Given the description of an element on the screen output the (x, y) to click on. 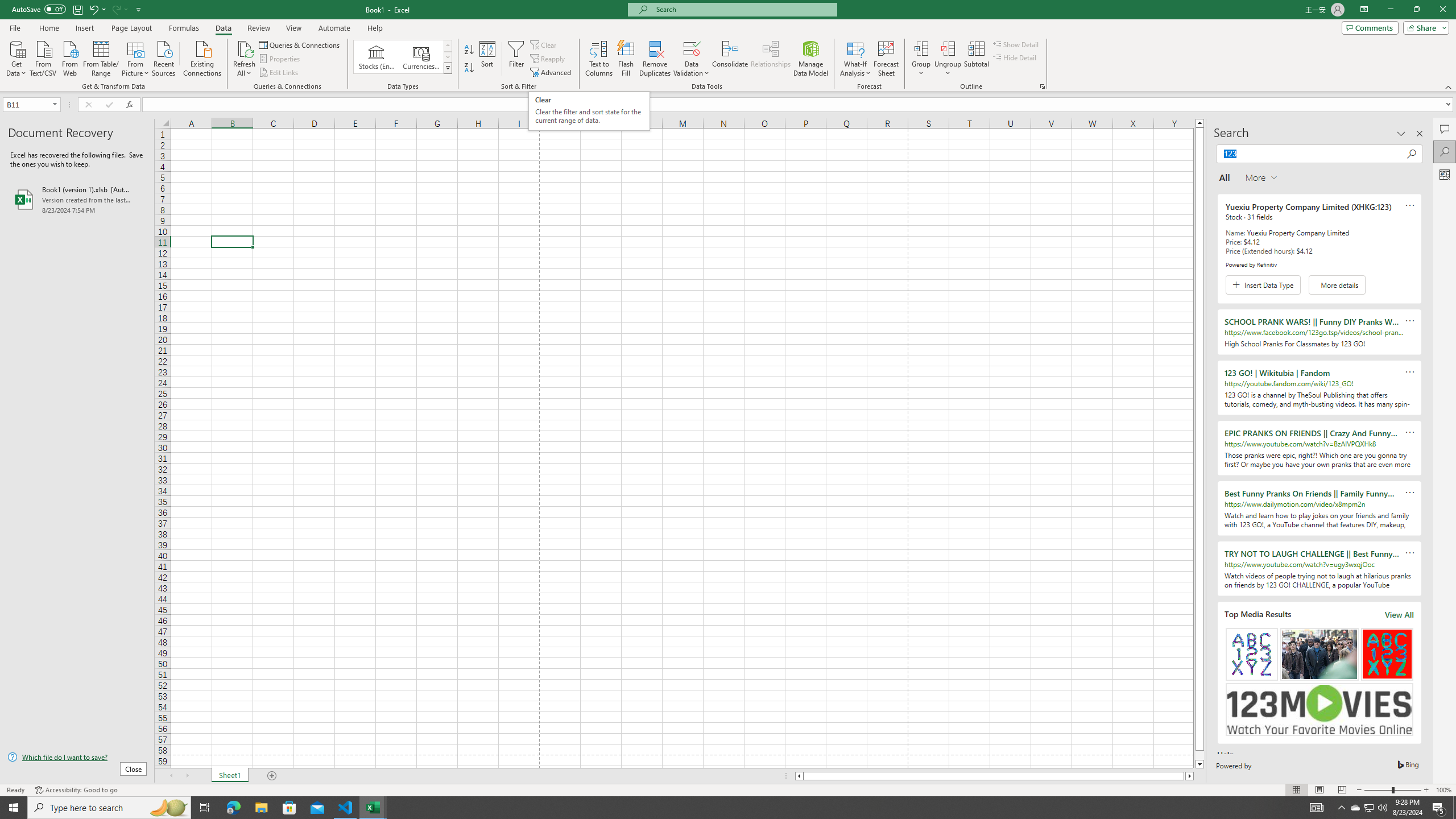
From Web (69, 57)
Properties (280, 58)
AutomationID: ConvertToLinkedEntity (403, 56)
Queries & Connections (300, 44)
Text to Columns... (598, 58)
Recent Sources (163, 57)
